Given the description of an element on the screen output the (x, y) to click on. 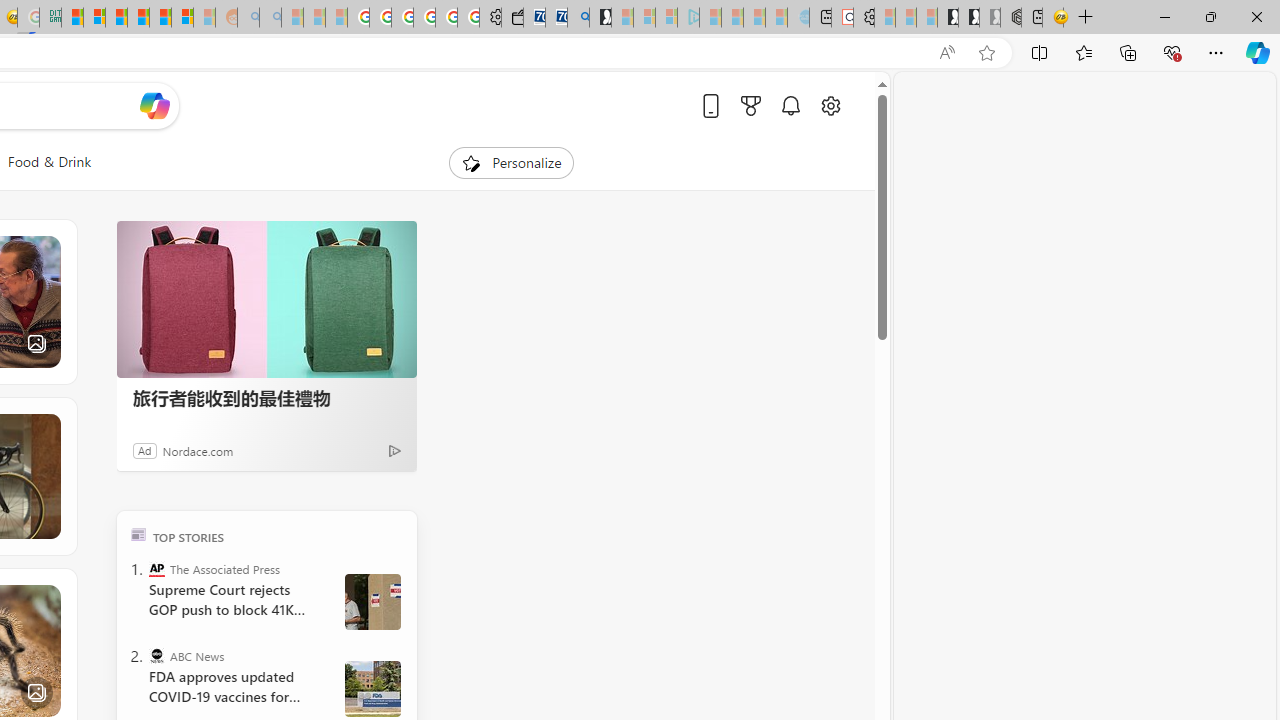
Bike Gurus (136, 476)
Kinda Frugal - MSN (160, 17)
